Given the description of an element on the screen output the (x, y) to click on. 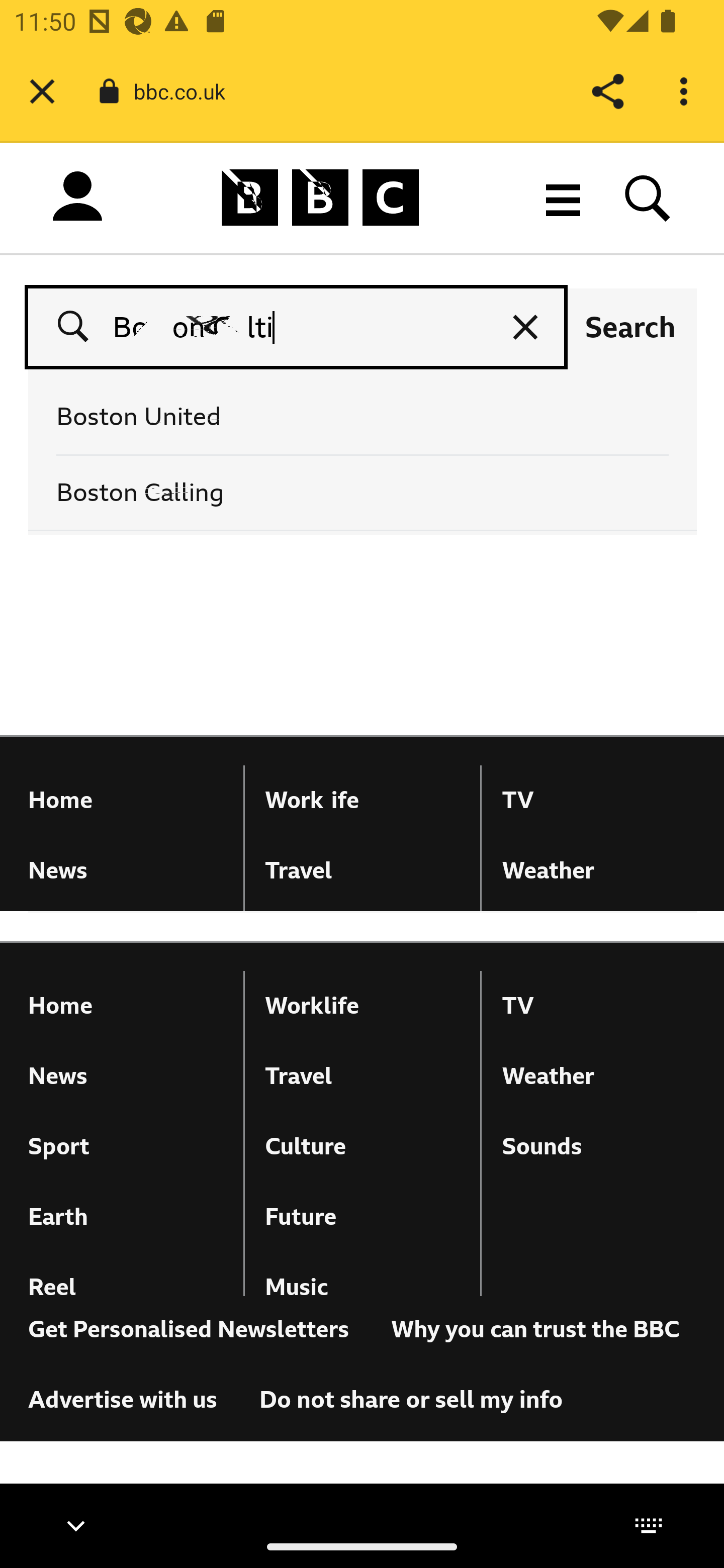
Close tab (42, 91)
Share (607, 91)
More options (687, 91)
Connection is secure (108, 91)
bbc.co.uk (186, 90)
Sign in (77, 200)
BBC Homepage (320, 197)
More menu (563, 197)
Search BBC (648, 197)
Boston Celtics (296, 326)
Clear (524, 326)
Search (630, 326)
Home (125, 1005)
Worklife (362, 1005)
TV (599, 1005)
News (125, 1076)
Travel (362, 1076)
Weather (599, 1076)
Sport (125, 1146)
Culture (362, 1146)
Sounds (599, 1146)
Earth (125, 1217)
Future (362, 1217)
Reel (125, 1287)
Music (362, 1287)
Terms of Use (99, 1394)
About the BBC (291, 1394)
Privacy Policy (489, 1394)
